Given the description of an element on the screen output the (x, y) to click on. 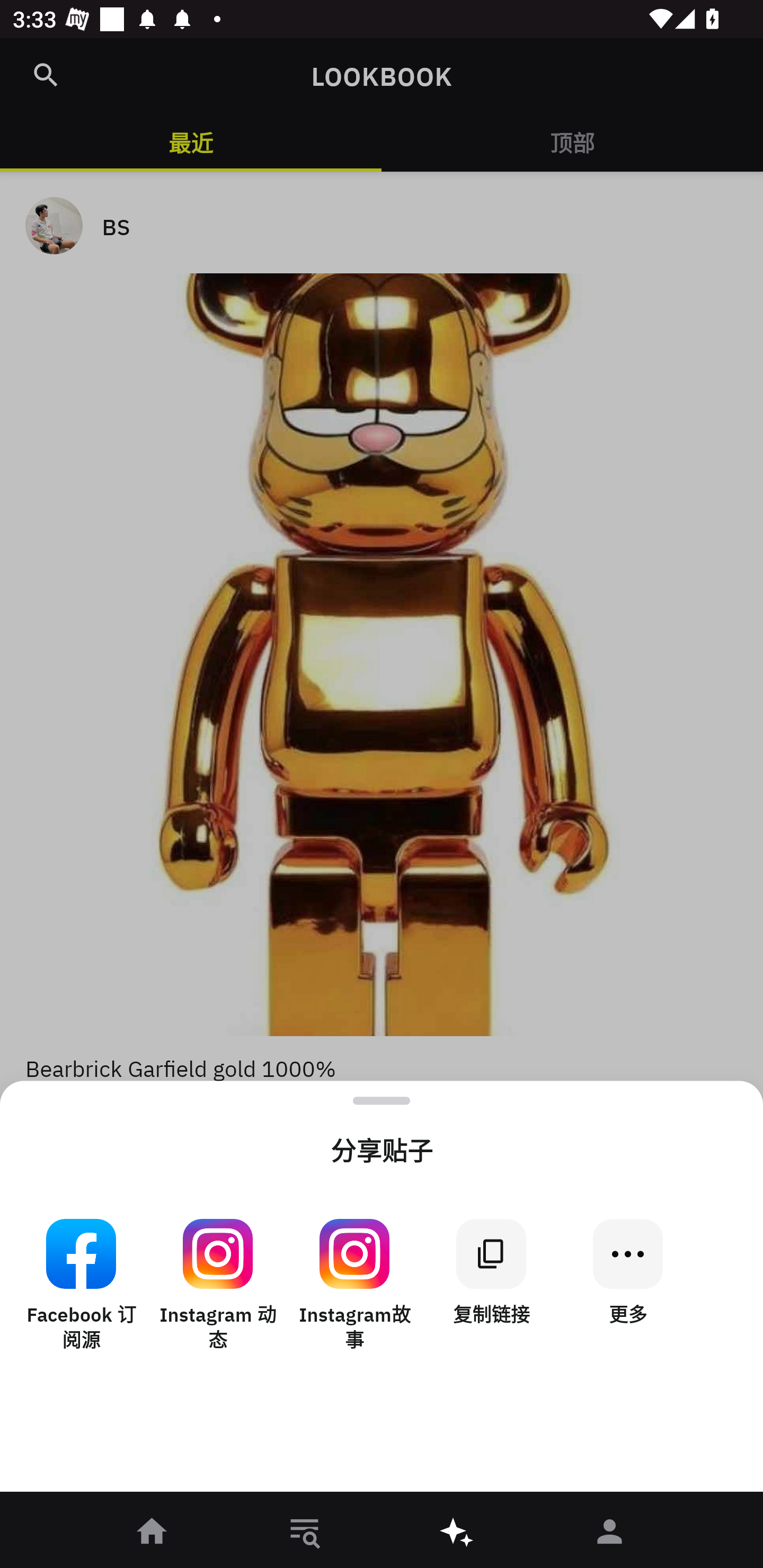
Facebook 订阅源 (80, 1284)
Instagram 动态 (217, 1284)
Instagram故事 (354, 1284)
󰆏 复制链接 (490, 1284)
更多 (627, 1284)
󰋜 (152, 1532)
󱎸 (305, 1532)
󰫢 (457, 1532)
󰀄 (610, 1532)
